Given the description of an element on the screen output the (x, y) to click on. 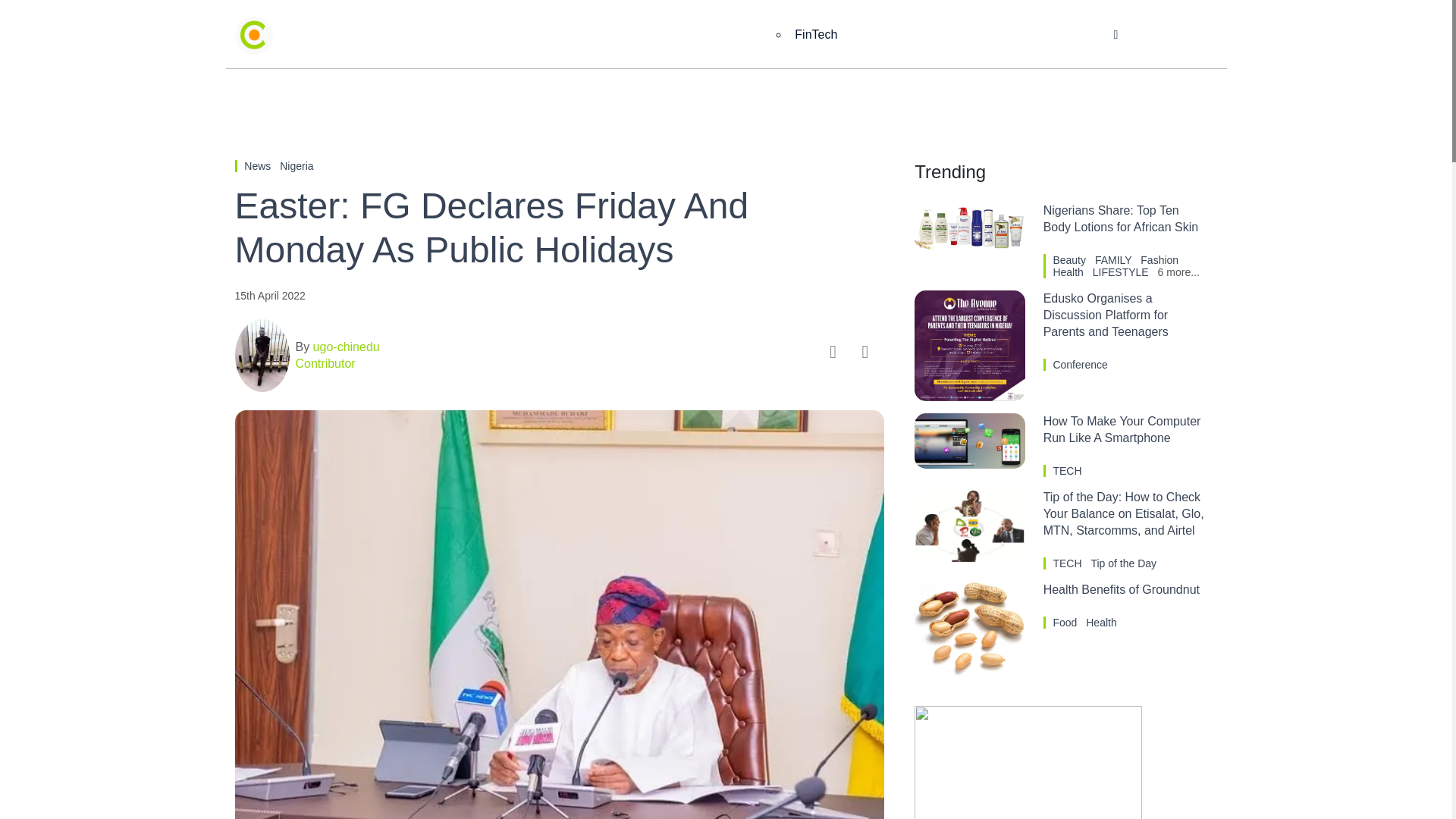
Home (469, 34)
Sports (866, 34)
Lifestyle (943, 34)
Entertainment (646, 34)
Opportunities (1037, 34)
Politics (739, 34)
Politics (739, 34)
Entertainment (646, 34)
Lifestyle (943, 34)
Sports (866, 34)
News (258, 165)
Easter: FG Declares Friday And Monday As Public Holidays (558, 227)
FinTech (816, 34)
Business (547, 34)
Business (547, 34)
